Given the description of an element on the screen output the (x, y) to click on. 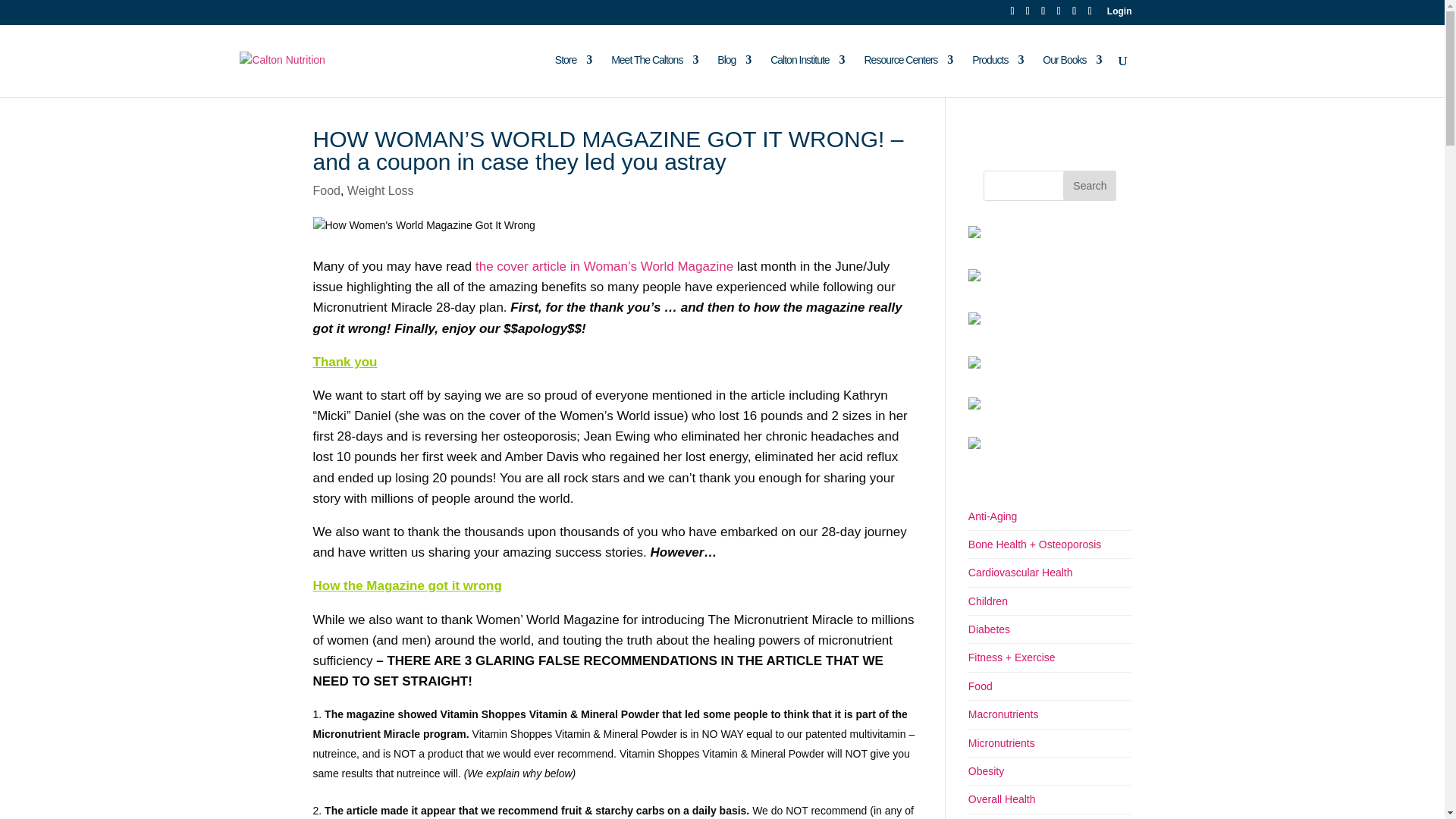
Products (997, 75)
Resource Centers (908, 75)
Calton Institute (807, 75)
Login (1119, 14)
Meet The Caltons (654, 75)
Search (1089, 185)
